Given the description of an element on the screen output the (x, y) to click on. 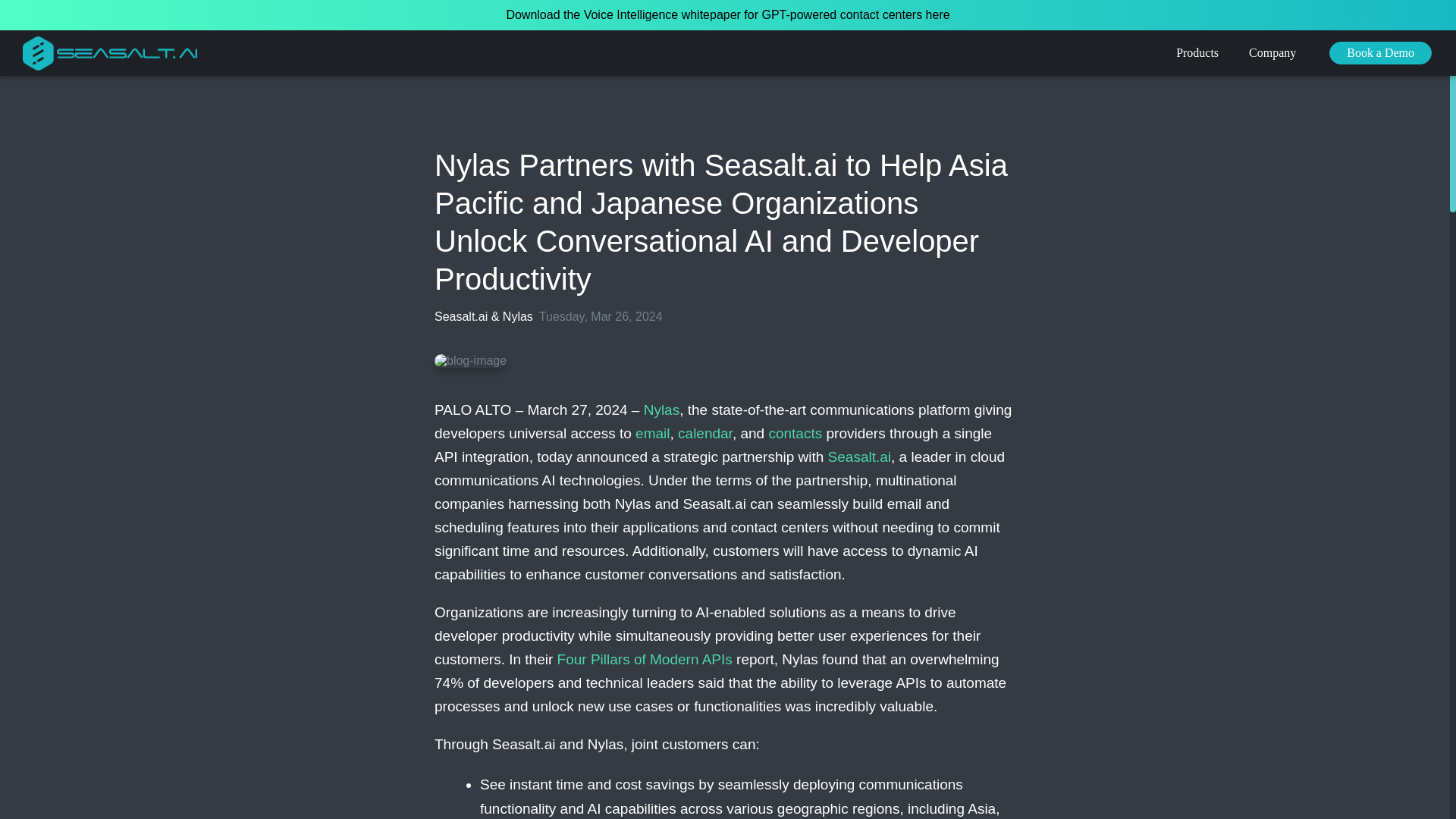
Book a Demo (1380, 52)
email (651, 433)
Nylas (661, 409)
calendar (705, 433)
Seasalt.ai (859, 456)
contacts (795, 433)
Four Pillars of Modern APIs (644, 659)
